Given the description of an element on the screen output the (x, y) to click on. 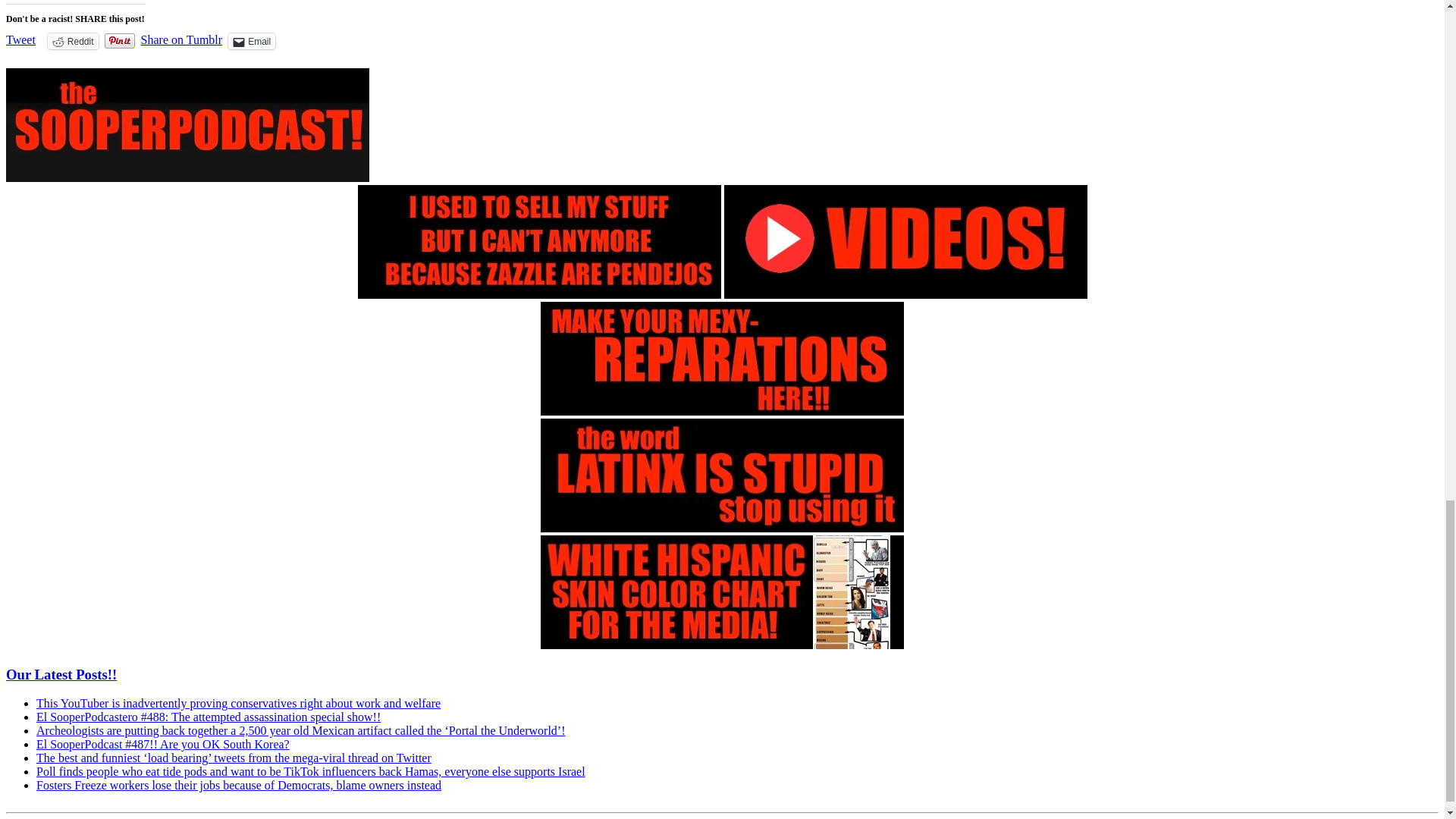
Share on Tumblr (181, 39)
Click to share on Reddit (73, 41)
Share on Tumblr (181, 39)
Click to email a link to a friend (251, 41)
Tweet (19, 39)
Reddit (73, 41)
Email (251, 41)
